Given the description of an element on the screen output the (x, y) to click on. 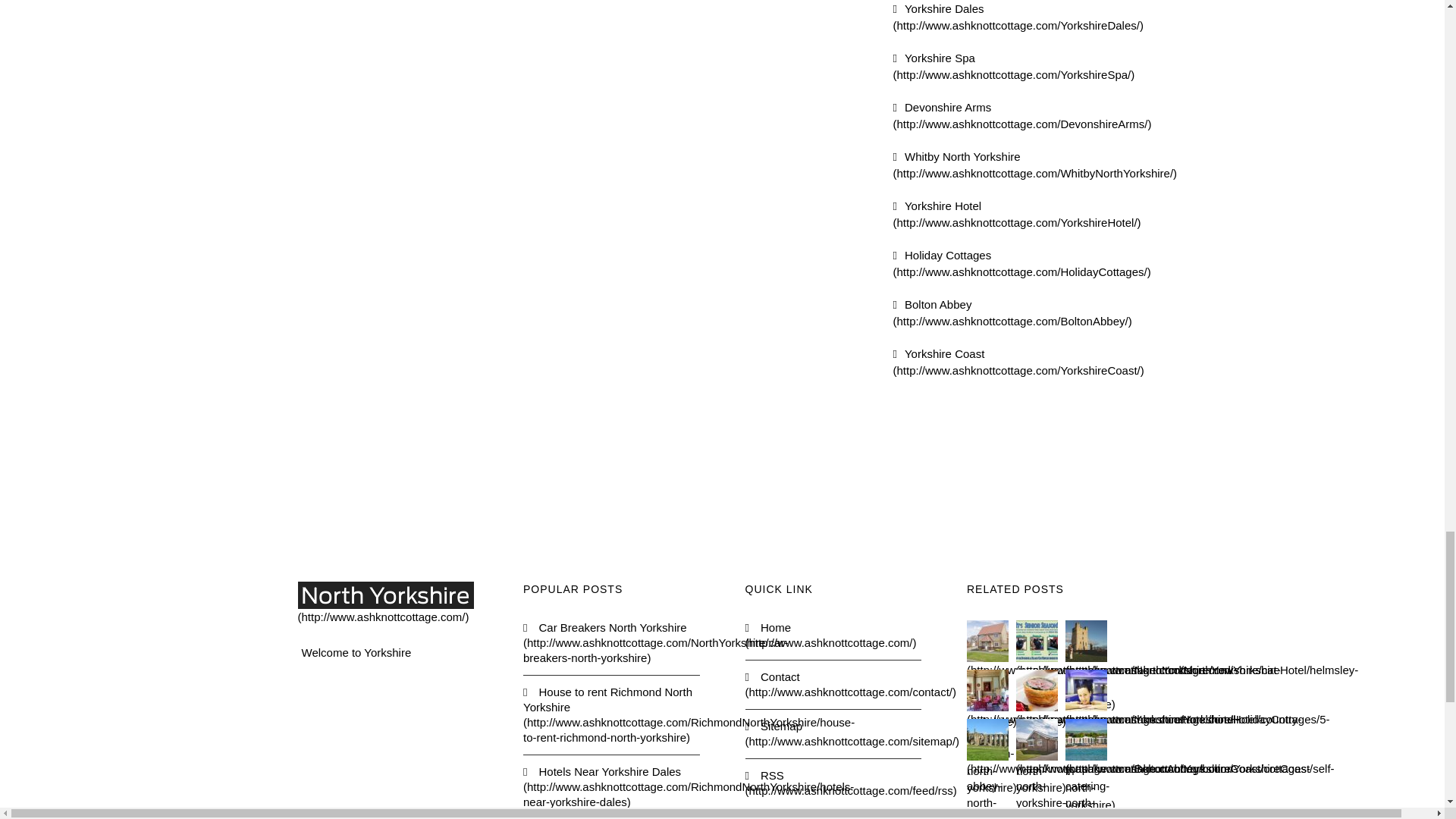
View all posts filed under Yorkshire Spa (1014, 66)
View all posts filed under Yorkshire Dales (1017, 16)
